Given the description of an element on the screen output the (x, y) to click on. 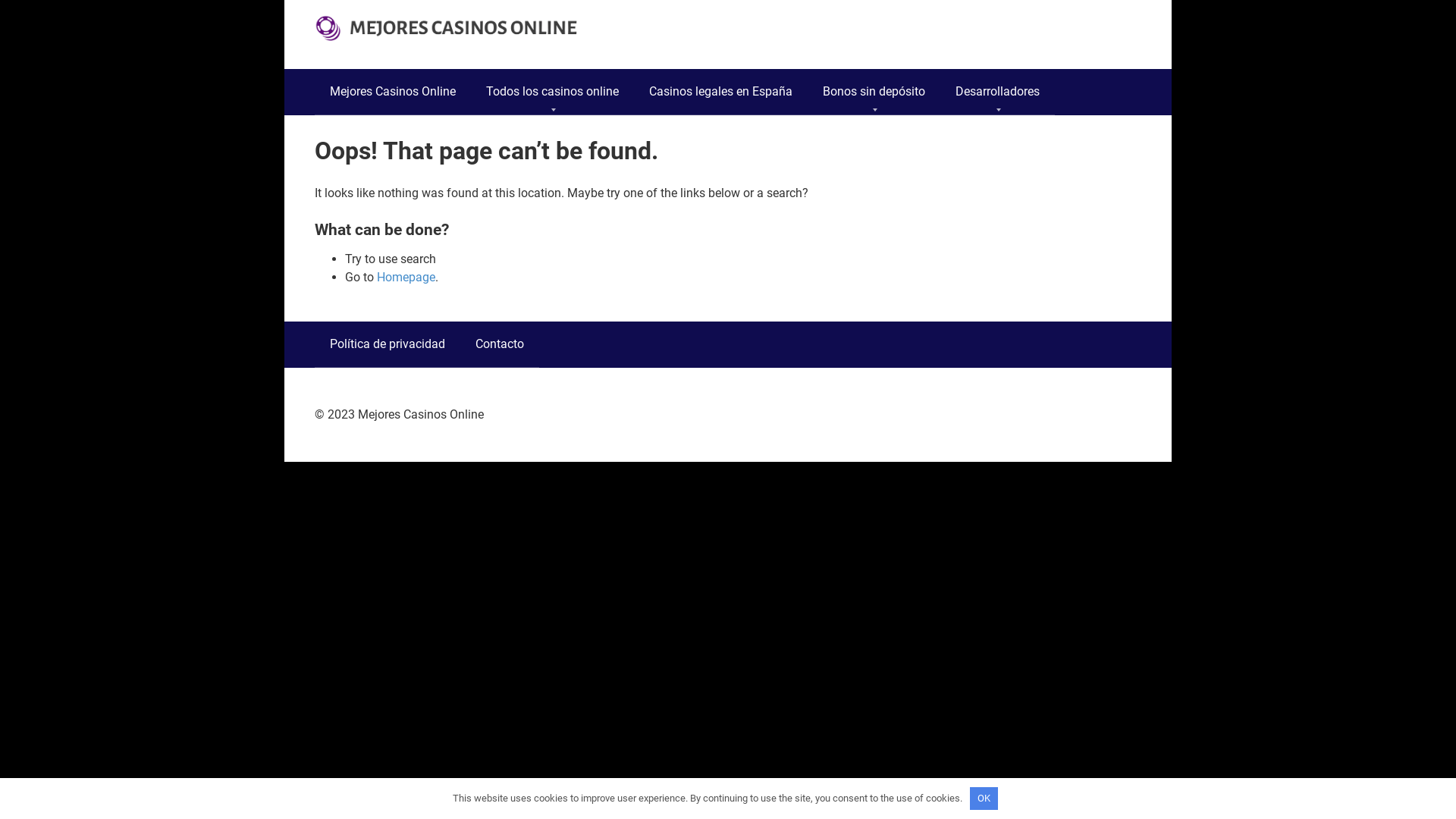
Mejores Casinos Online Element type: text (392, 91)
Todos los casinos online Element type: text (551, 91)
OK Element type: text (983, 798)
Contacto Element type: text (499, 344)
Skip to content Element type: text (0, 0)
Homepage Element type: text (405, 276)
Desarrolladores Element type: text (997, 91)
